Given the description of an element on the screen output the (x, y) to click on. 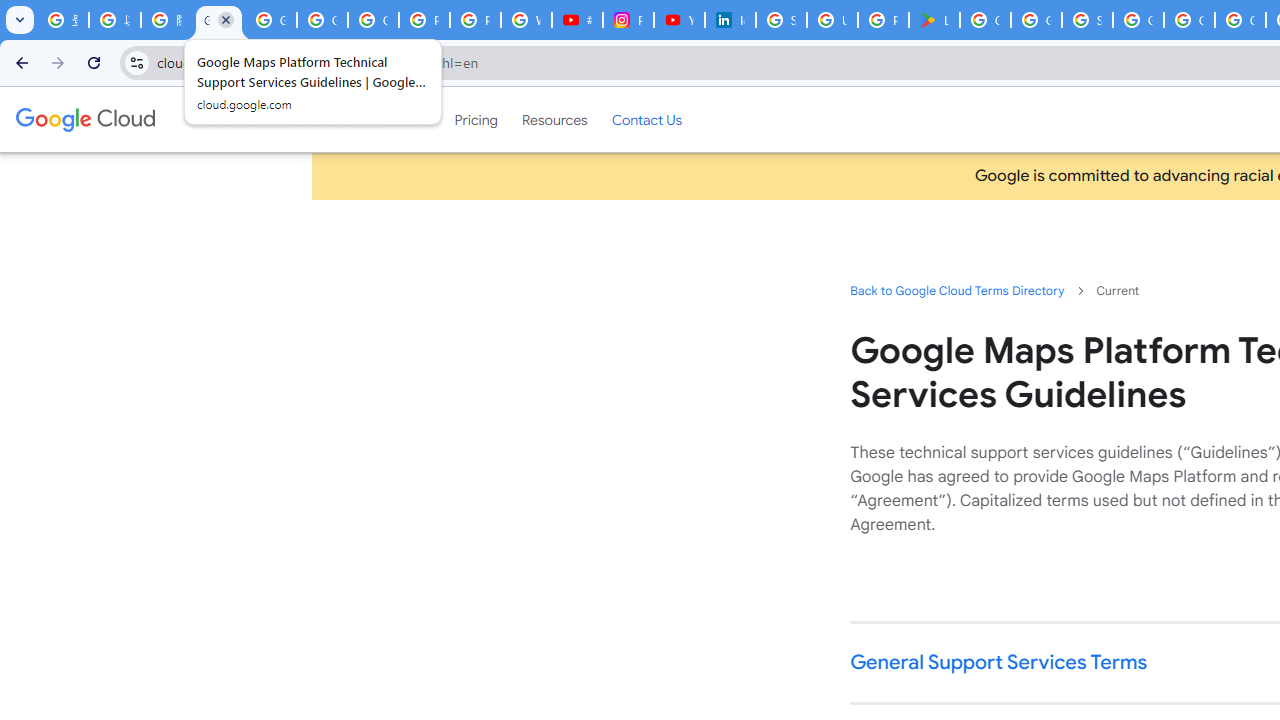
Products (401, 119)
Google Cloud Platform (1188, 20)
Privacy Help Center - Policies Help (475, 20)
Last Shelter: Survival - Apps on Google Play (933, 20)
Google Cloud (84, 119)
Back to Google Cloud Terms Directory (956, 290)
